Given the description of an element on the screen output the (x, y) to click on. 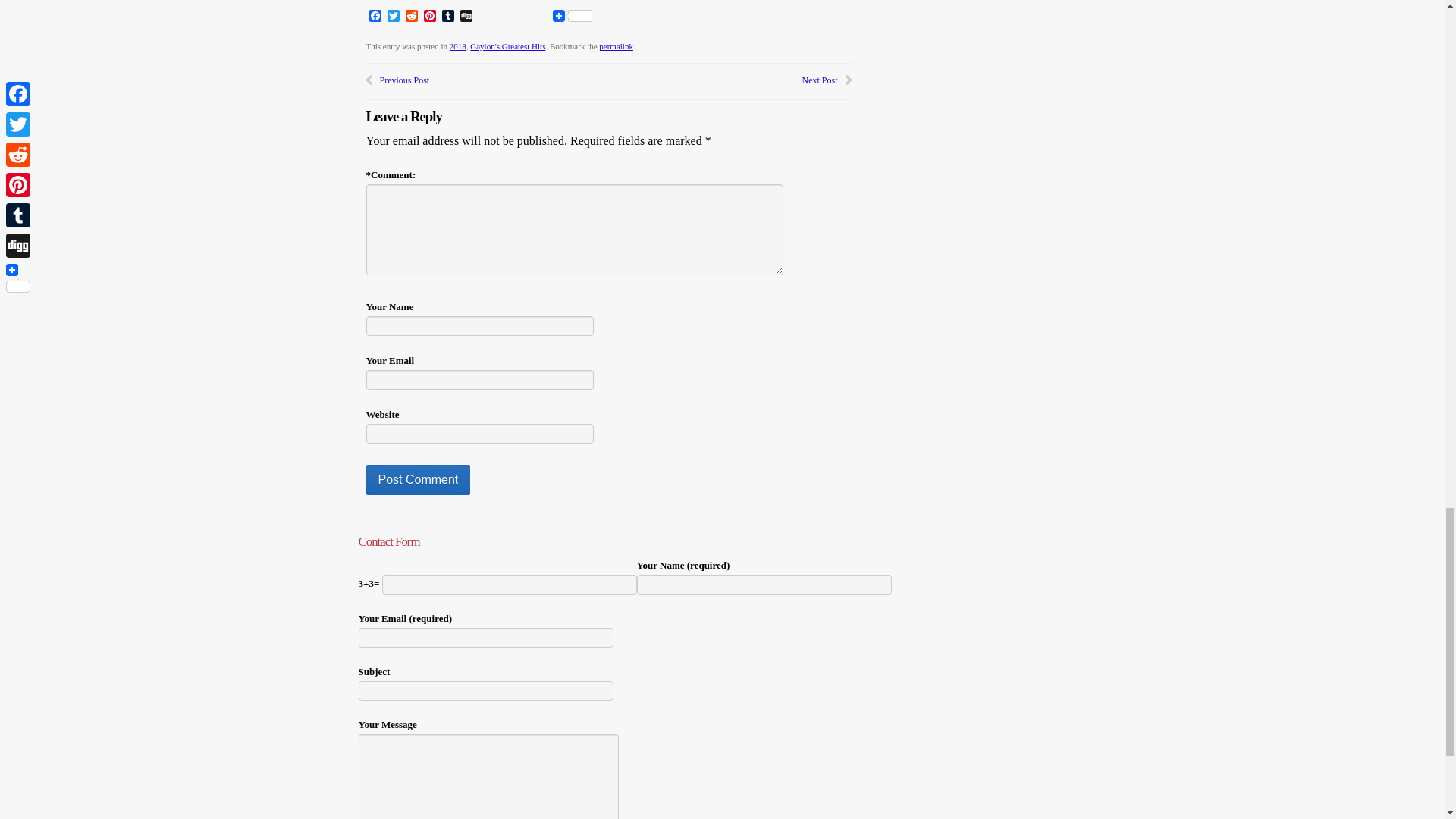
Facebook (374, 16)
2018 (457, 45)
Tumblr (447, 16)
Next Post (819, 80)
Digg (465, 16)
Twitter (392, 16)
Twitter (392, 16)
Post Comment (417, 480)
Post Comment (417, 480)
Tumblr (447, 16)
Facebook (374, 16)
Pinterest (429, 16)
Gaylon's Greatest Hits (507, 45)
Previous Post (403, 80)
permalink (615, 45)
